Given the description of an element on the screen output the (x, y) to click on. 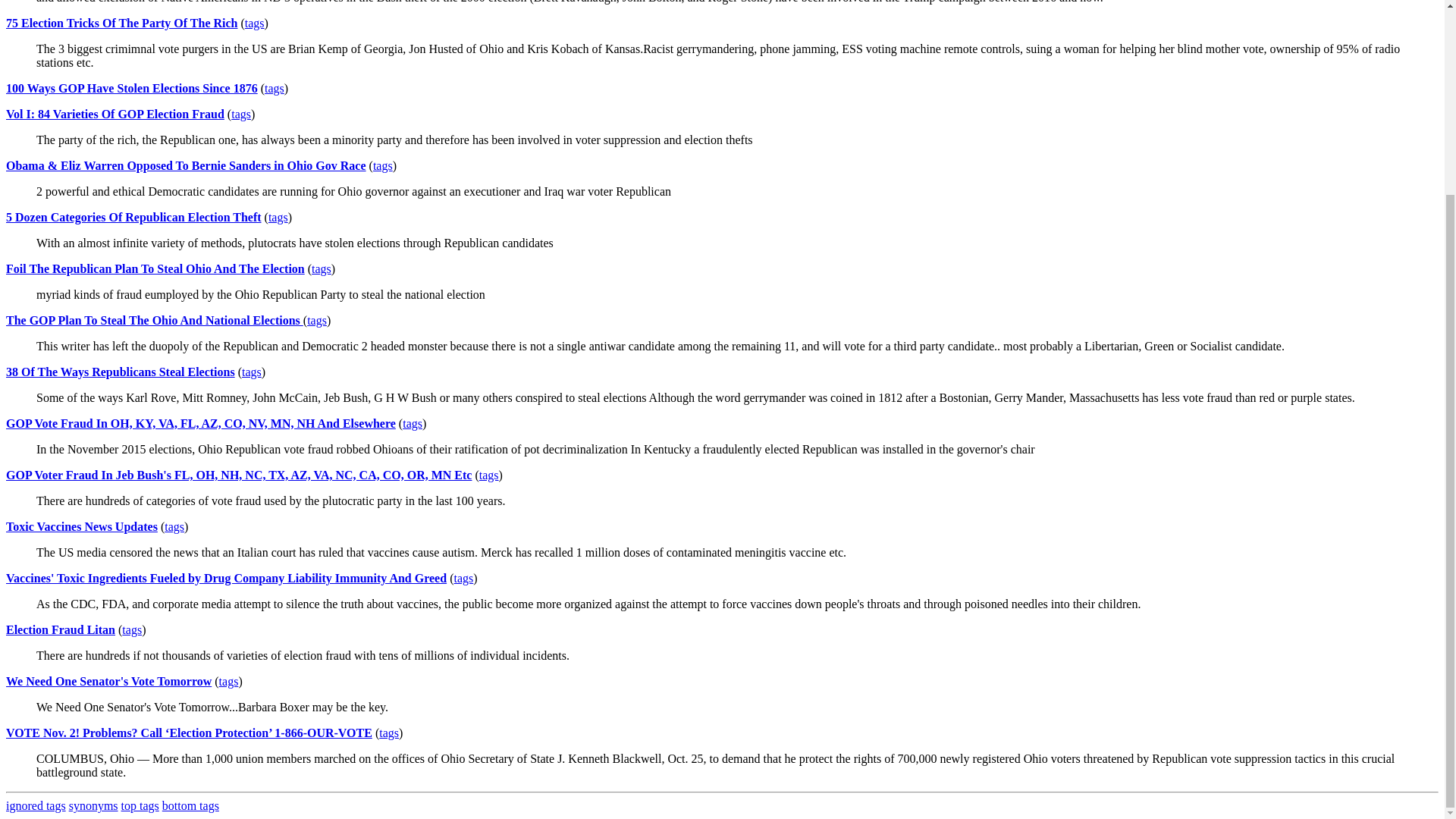
tags (388, 732)
tags (462, 577)
The GOP Plan To Steal The Ohio And National Elections (153, 319)
tags (251, 371)
tags (316, 319)
tags (277, 216)
tags (254, 22)
We Need One Senator's Vote Tomorrow (108, 680)
Toxic Vaccines News Updates (81, 526)
ignored tags (35, 805)
75 Election Tricks Of The Party Of The Rich (121, 22)
tags (131, 629)
tags (240, 113)
tags (228, 680)
